Given the description of an element on the screen output the (x, y) to click on. 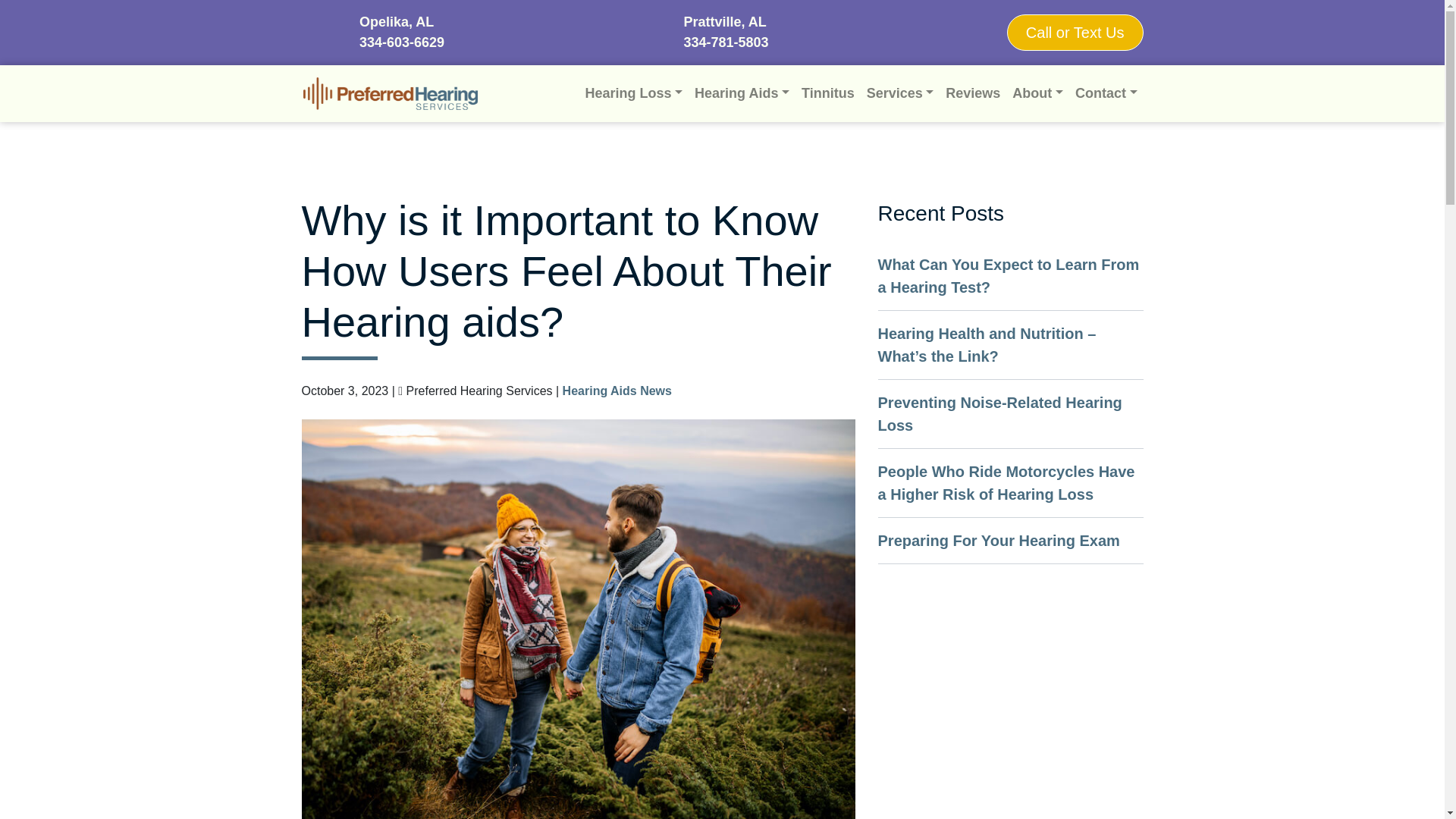
Call or Text Us (1074, 32)
334-781-5803 (725, 42)
About (1037, 92)
Hearing Aids News (616, 390)
Services (900, 92)
Opelika, AL (401, 22)
Hearing Loss (633, 92)
334-603-6629 (401, 42)
Hearing Aids (741, 92)
Contact (1105, 92)
Tinnitus (827, 92)
Reviews (972, 92)
Prattville, AL (725, 22)
